Given the description of an element on the screen output the (x, y) to click on. 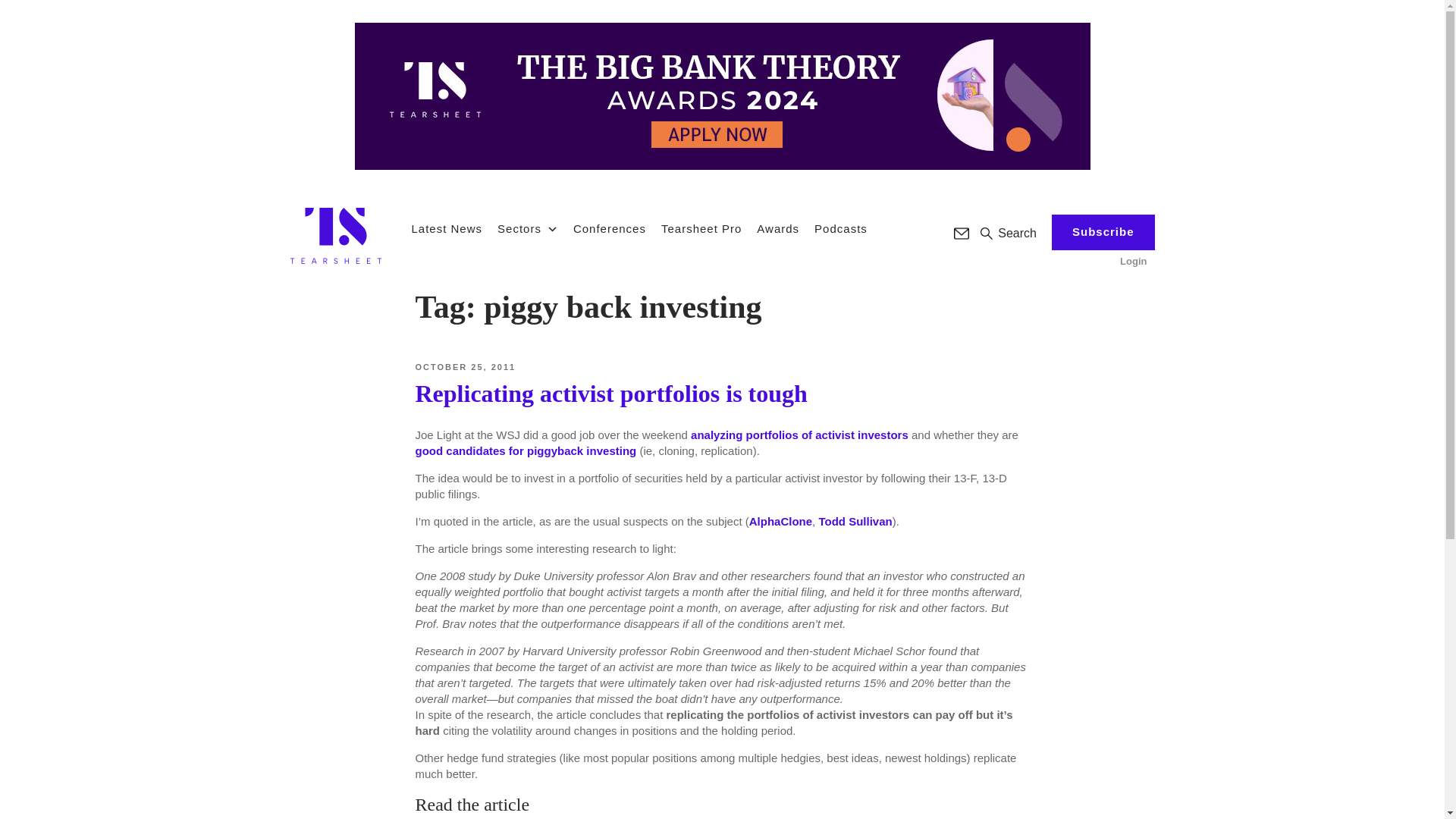
Sectors (527, 229)
Newsletter (961, 233)
Tearsheet Pro (701, 229)
Podcasts (840, 229)
Awards (777, 229)
Tearsheet (334, 235)
Conferences (609, 229)
Latest News (446, 229)
Subscribe (1102, 232)
